Given the description of an element on the screen output the (x, y) to click on. 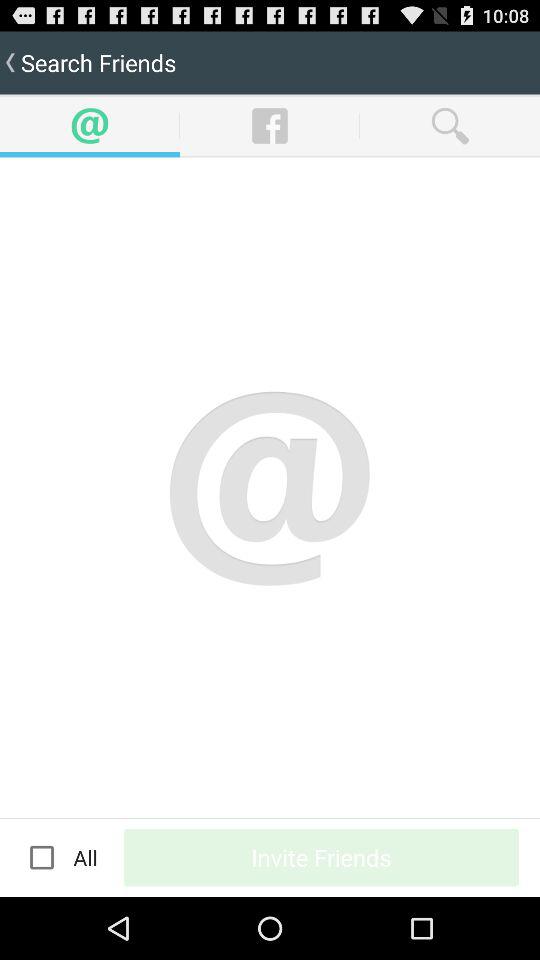
flip until invite friends button (321, 857)
